Given the description of an element on the screen output the (x, y) to click on. 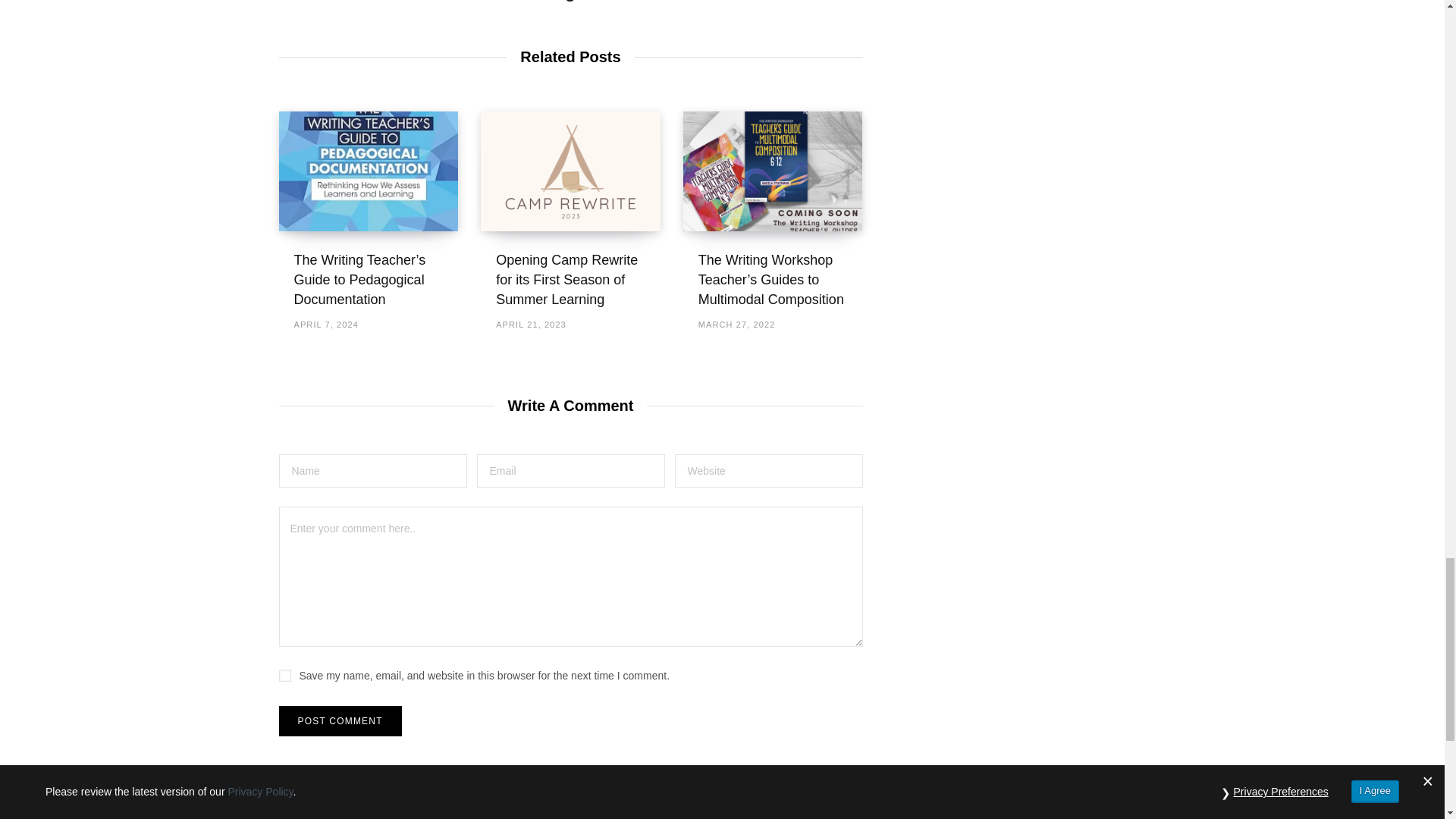
Opening Camp Rewrite for its First Season of Summer Learning (566, 279)
Angela (569, 2)
Opening Camp Rewrite for its First Season of Summer Learning (570, 170)
Post Comment (340, 720)
Posts by Angela (569, 2)
yes (285, 675)
Post Comment (340, 720)
